Given the description of an element on the screen output the (x, y) to click on. 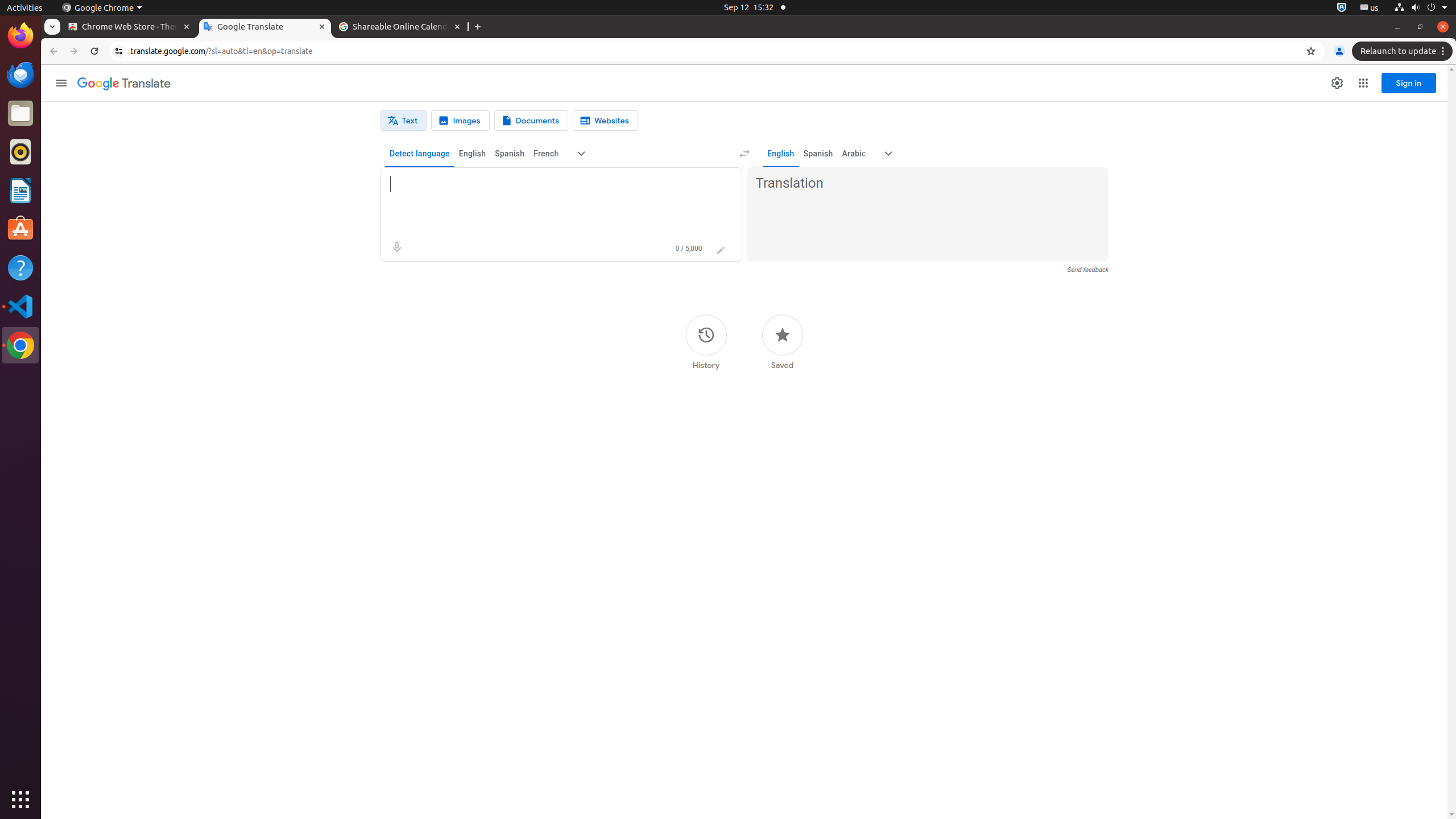
Image translation Element type: push-button (460, 120)
Help Element type: push-button (20, 267)
Detect language Element type: page-tab (419, 153)
Google Translate Element type: page-tab (264, 26)
Back Element type: push-button (51, 50)
